Given the description of an element on the screen output the (x, y) to click on. 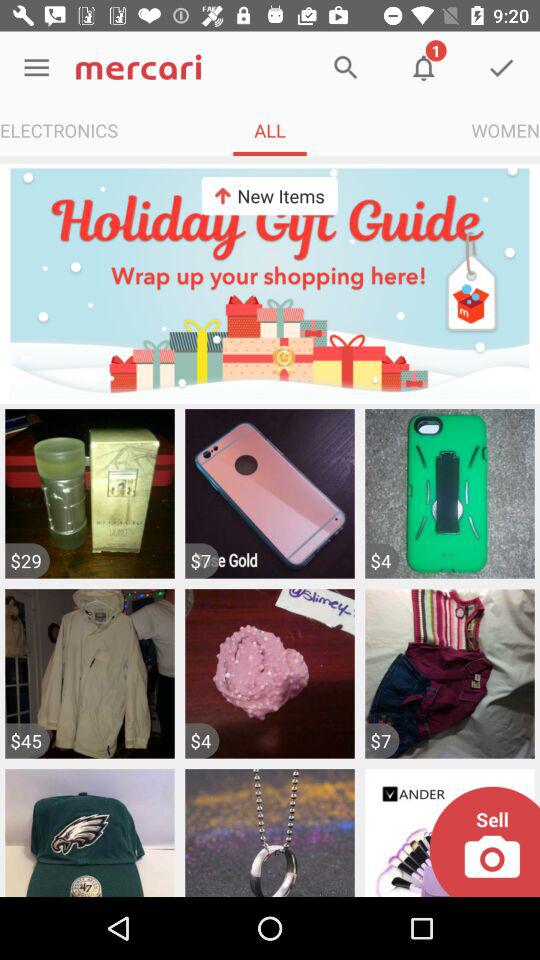
jump until the $45 (27, 740)
